Given the description of an element on the screen output the (x, y) to click on. 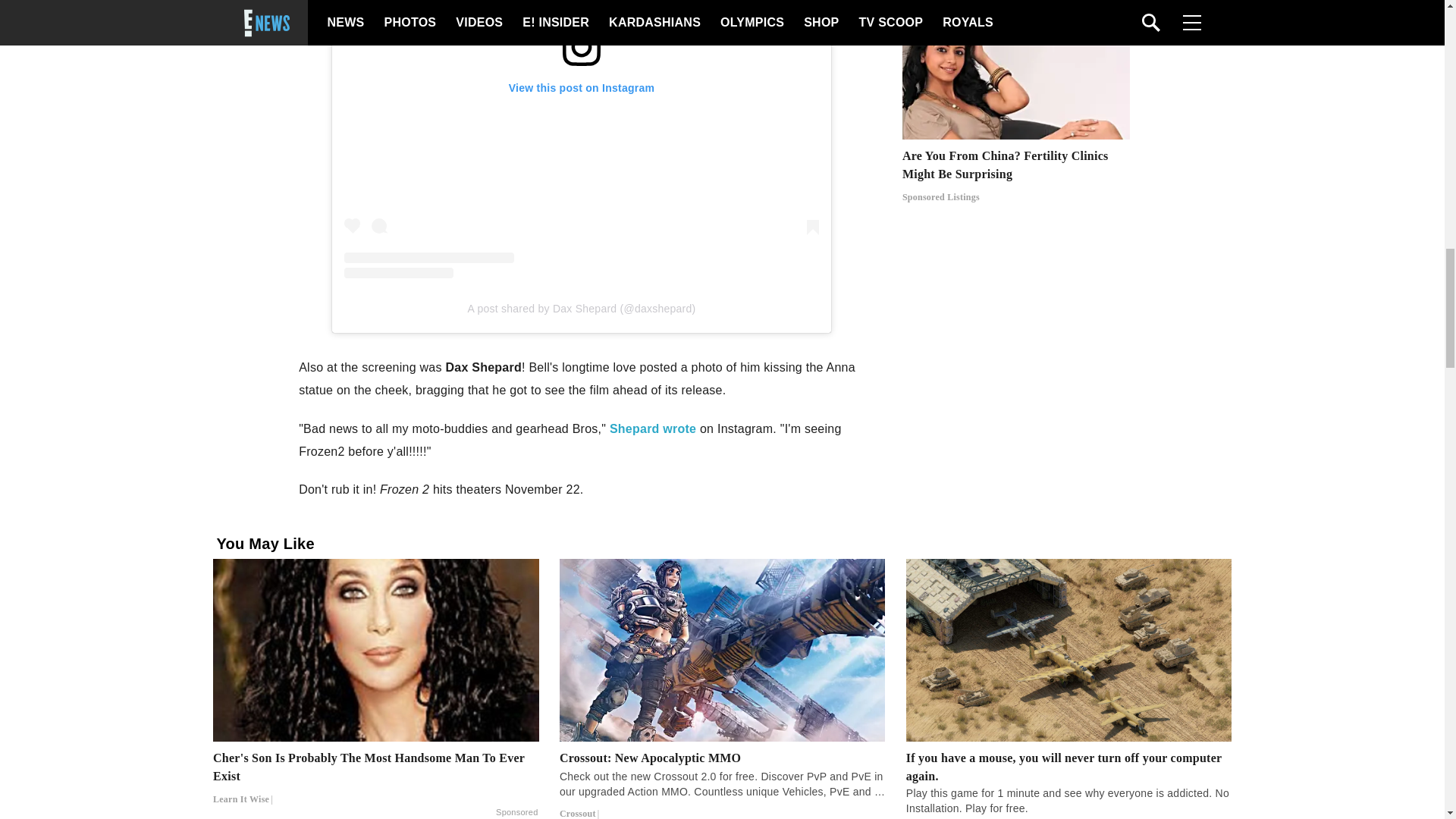
View this post on Instagram (580, 139)
